Given the description of an element on the screen output the (x, y) to click on. 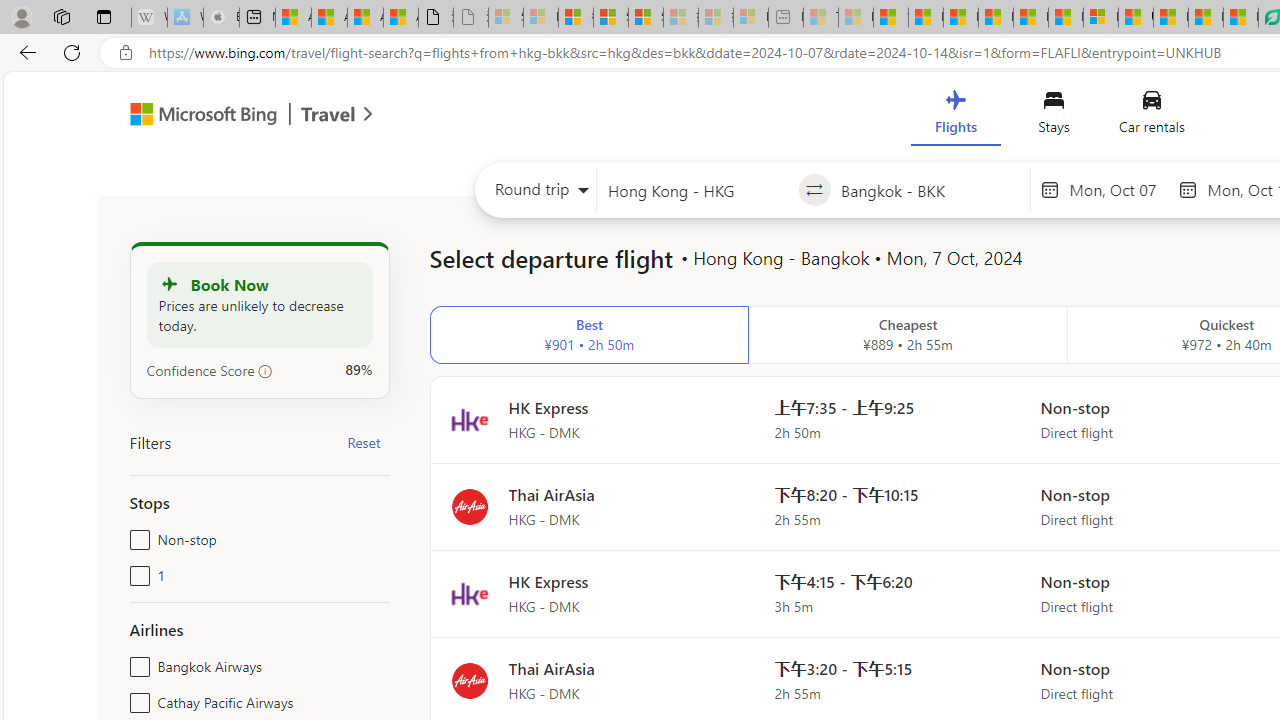
Class: msft-bing-logo msft-bing-logo-desktop (198, 114)
Stays (1053, 116)
Microsoft account | Account Checkup - Sleeping (750, 17)
Swap source and destination (813, 189)
Car rentals (1150, 116)
Wikipedia - Sleeping (149, 17)
1 (136, 571)
Cathay Pacific Airways (136, 698)
